Given the description of an element on the screen output the (x, y) to click on. 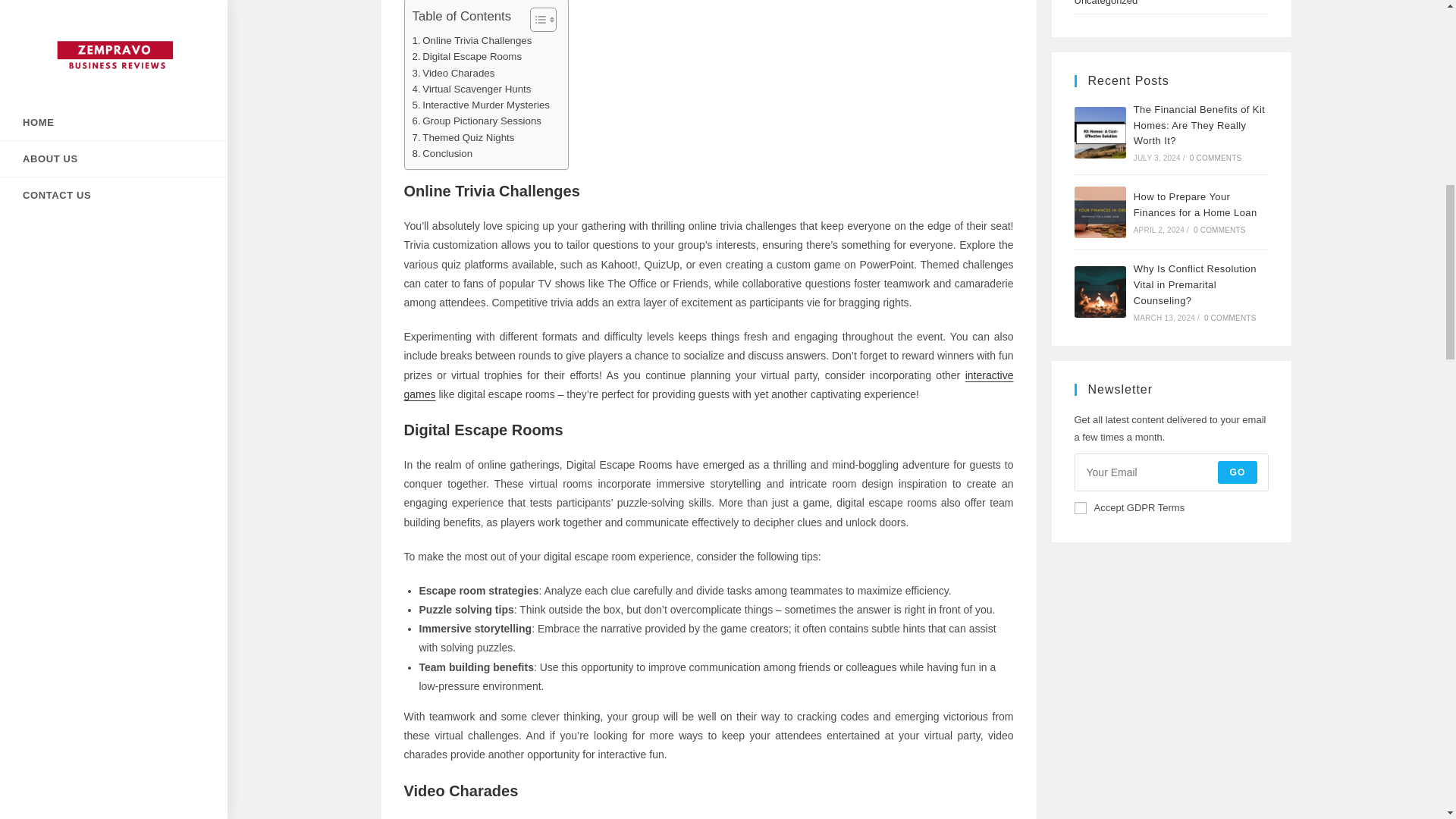
Video Charades (453, 73)
Interactive Murder Mysteries (481, 105)
Virtual Scavenger Hunts (471, 89)
interactive games (708, 384)
Conclusion (442, 153)
1 (1080, 508)
How to Prepare Your Finances for a Home Loan (1099, 212)
Video Charades (453, 73)
Interactive Murder Mysteries (481, 105)
Why Is Conflict Resolution Vital in Premarital Counseling? (1099, 291)
Group Pictionary Sessions (476, 120)
Digital Escape Rooms (467, 56)
Group Pictionary Sessions (476, 120)
Themed Quiz Nights (463, 137)
